Given the description of an element on the screen output the (x, y) to click on. 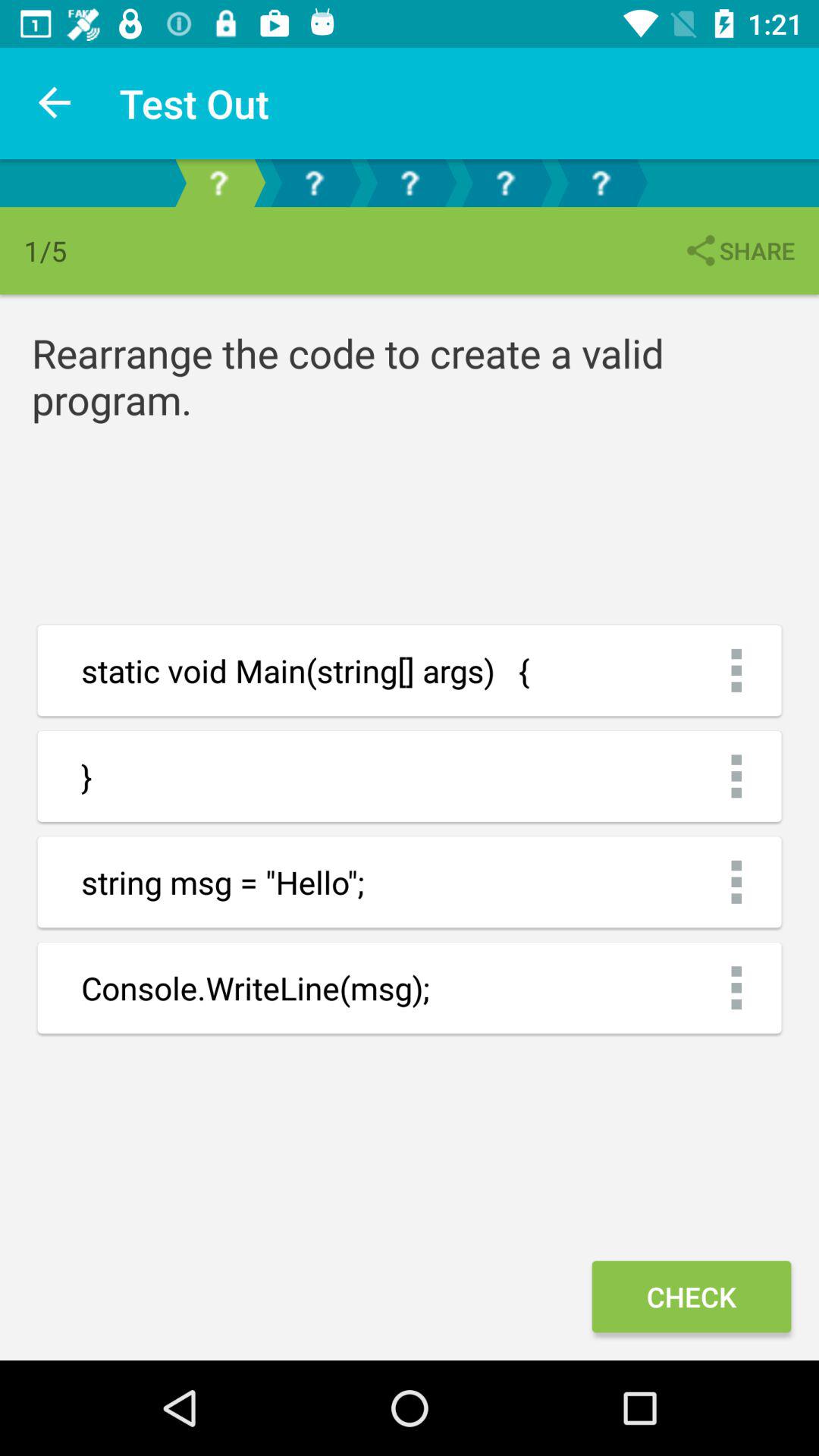
go to next (409, 183)
